Given the description of an element on the screen output the (x, y) to click on. 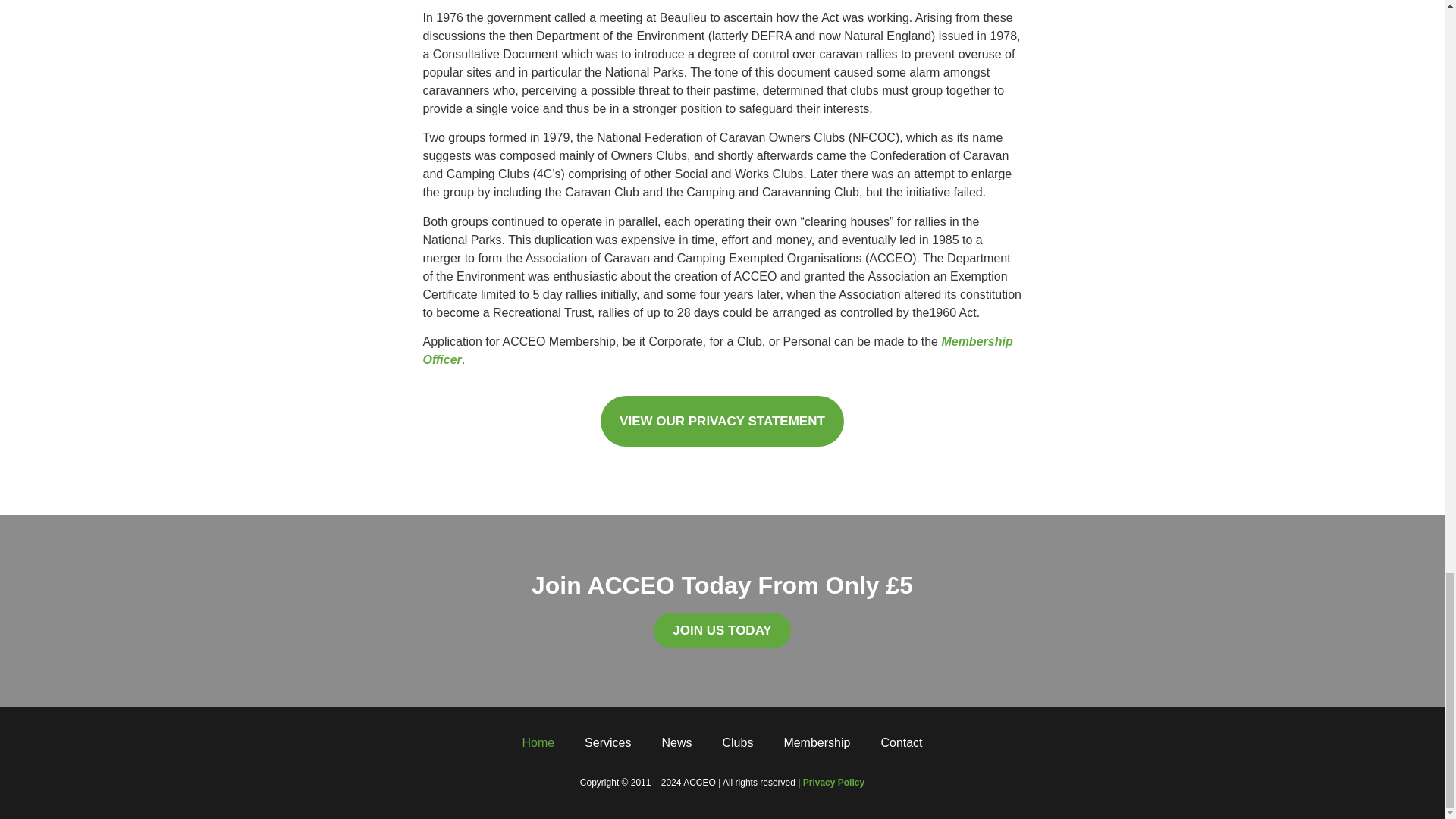
Contact (900, 742)
VIEW OUR PRIVACY STATEMENT (721, 420)
JOIN US TODAY (721, 630)
Membership Officer (718, 350)
News (676, 742)
Privacy Policy (833, 782)
Home (537, 742)
Clubs (737, 742)
Services (607, 742)
Membership (816, 742)
